Given the description of an element on the screen output the (x, y) to click on. 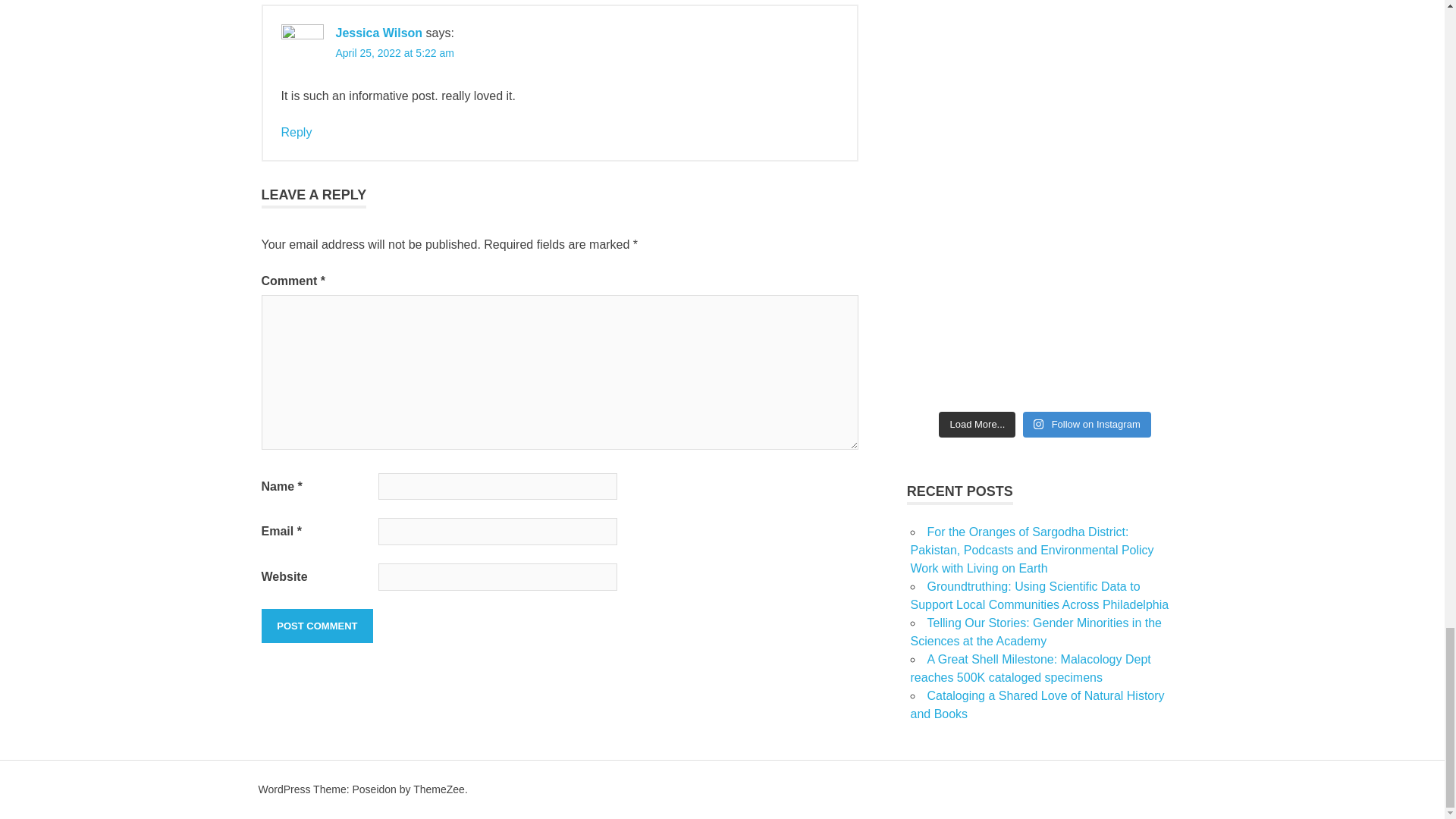
Jessica Wilson (378, 32)
April 25, 2022 at 5:22 am (393, 52)
Post Comment (316, 625)
Post Comment (316, 625)
Reply (296, 132)
